Given the description of an element on the screen output the (x, y) to click on. 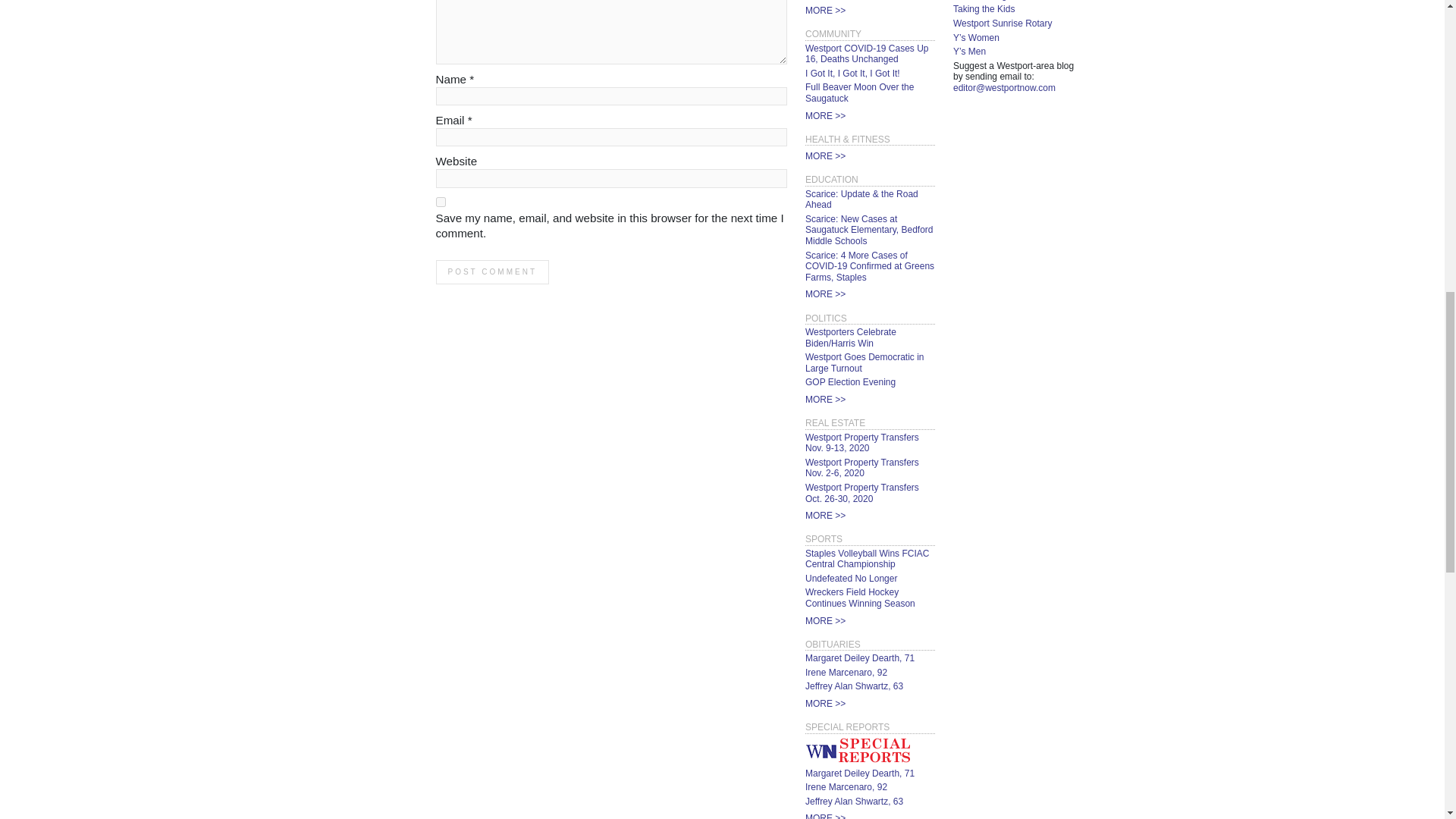
Westport COVID-19 Cases Up 16, Deaths Unchanged (866, 54)
Post Comment (491, 271)
yes (440, 202)
Post Comment (491, 271)
I Got It, I Got It, I Got It! (852, 72)
Full Beaver Moon Over the Saugatuck (859, 92)
